Given the description of an element on the screen output the (x, y) to click on. 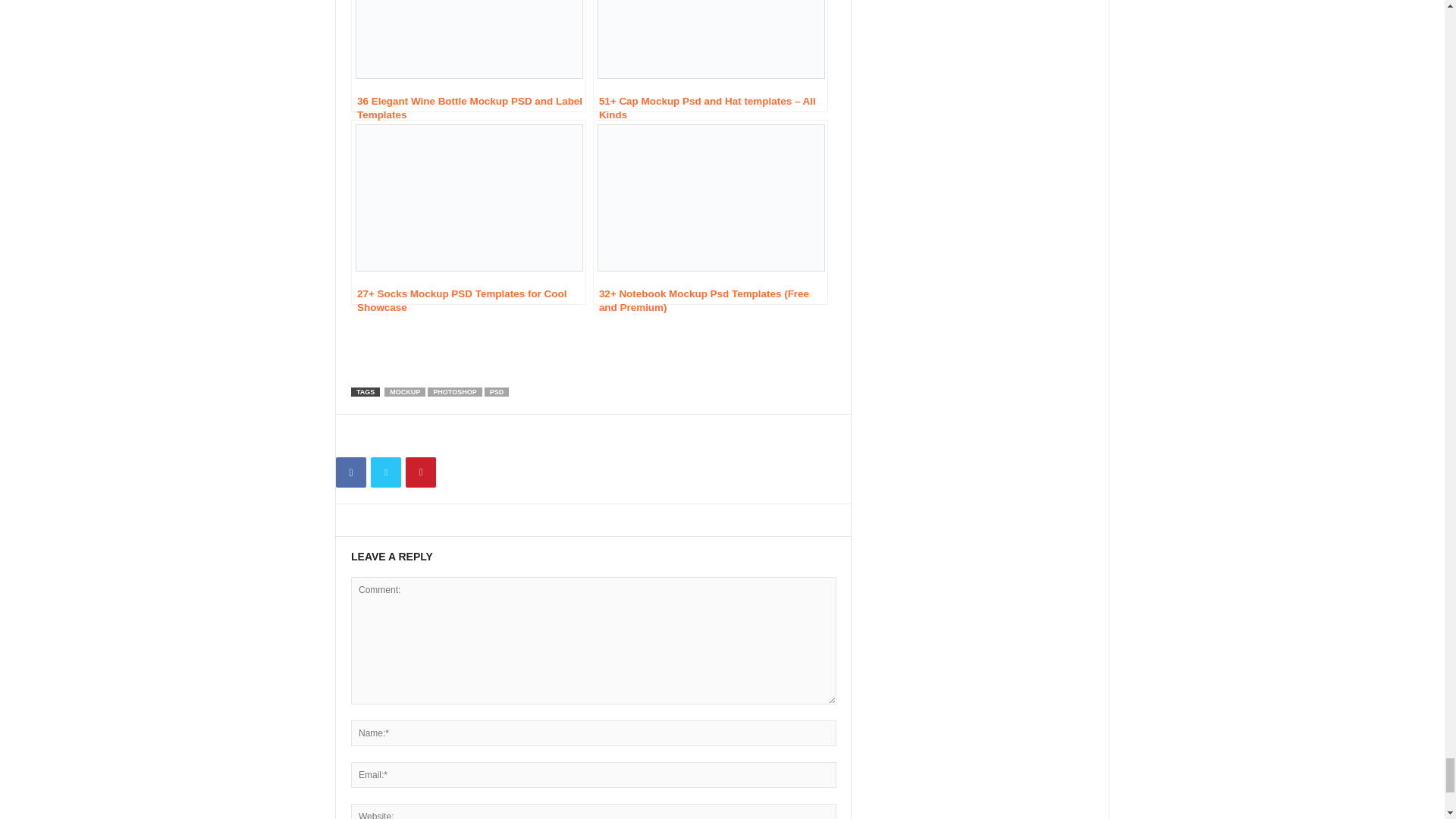
Twitter (386, 472)
Facebook (351, 472)
Pinterest (420, 472)
36 Elegant Wine Bottle Mockup PSD and Label Templates (468, 56)
